Given the description of an element on the screen output the (x, y) to click on. 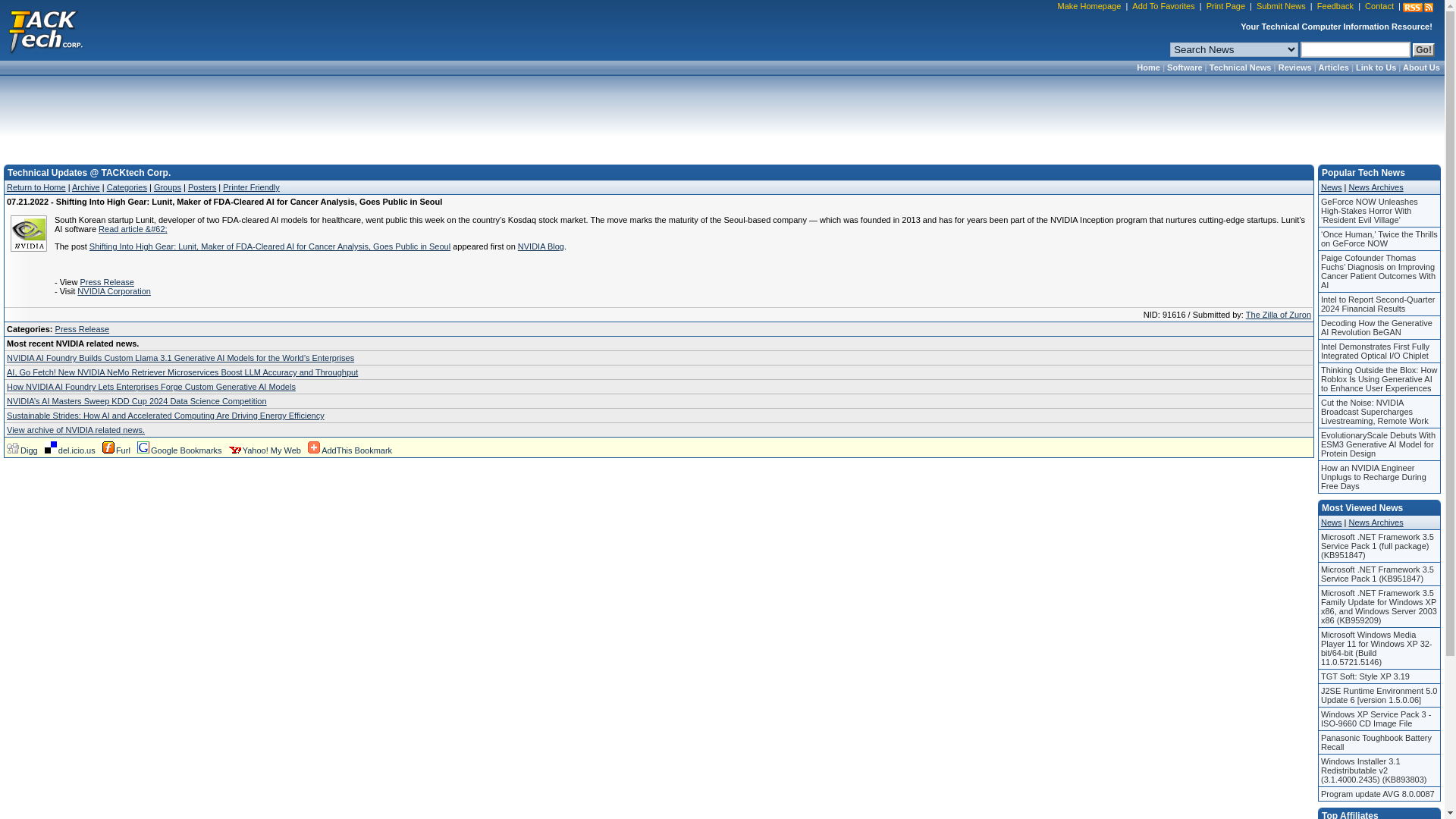
The Zilla of Zuron (1278, 314)
View available TACKtech RSS Feeds (1417, 7)
Go! (1423, 49)
del.icio.us (70, 450)
NVIDIA Corporation (114, 290)
Make Homepage (1089, 6)
Return to Home (36, 186)
Contact (1379, 6)
Digg (22, 450)
Groups (167, 186)
Digg This (22, 450)
Add To Favorites (1162, 6)
